Given the description of an element on the screen output the (x, y) to click on. 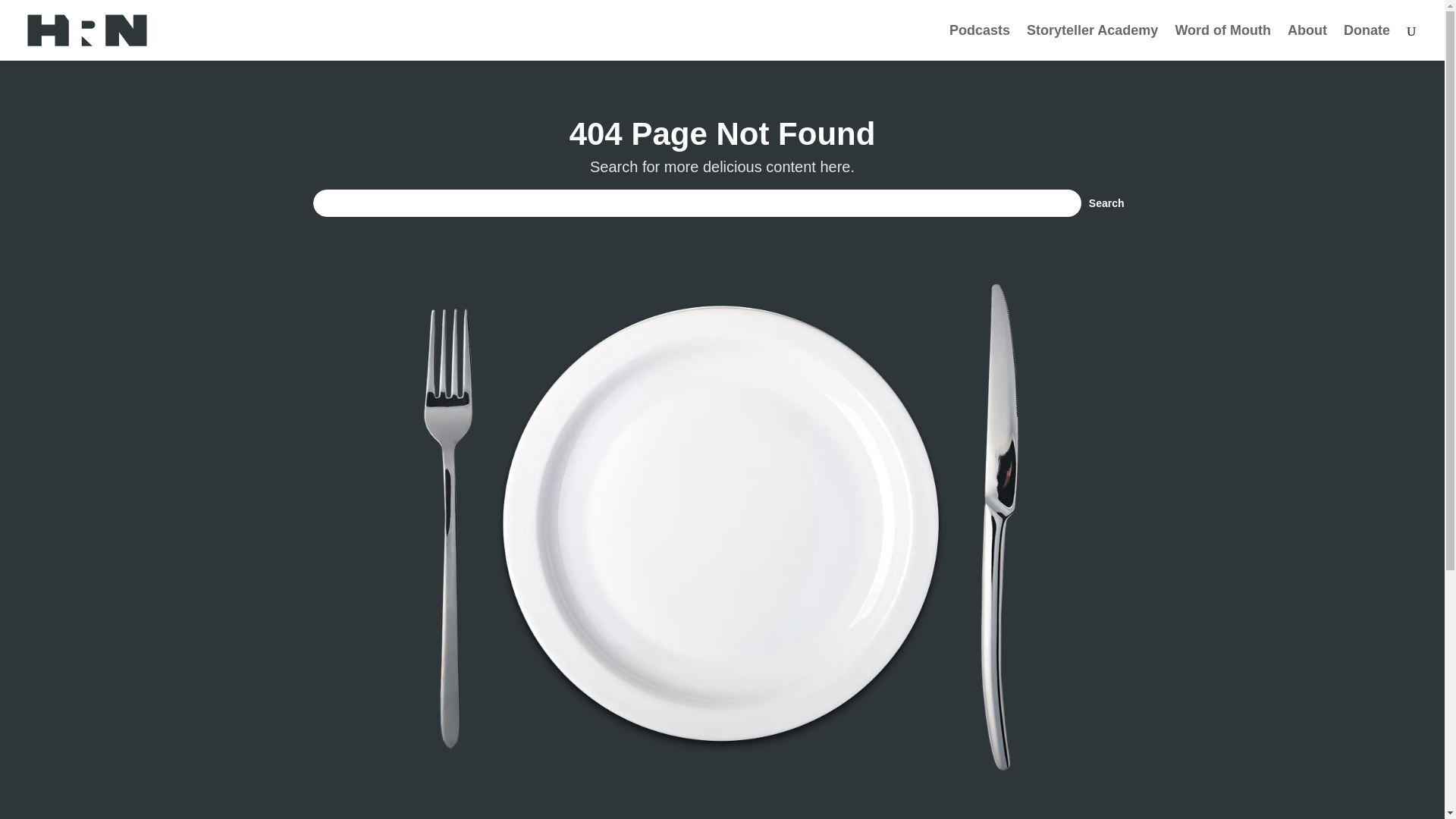
Donate (1366, 42)
Word of Mouth (1222, 42)
Search (1106, 203)
Search (1106, 203)
Podcasts (979, 42)
Search (1106, 203)
Storyteller Academy (1091, 42)
About (1306, 42)
